Given the description of an element on the screen output the (x, y) to click on. 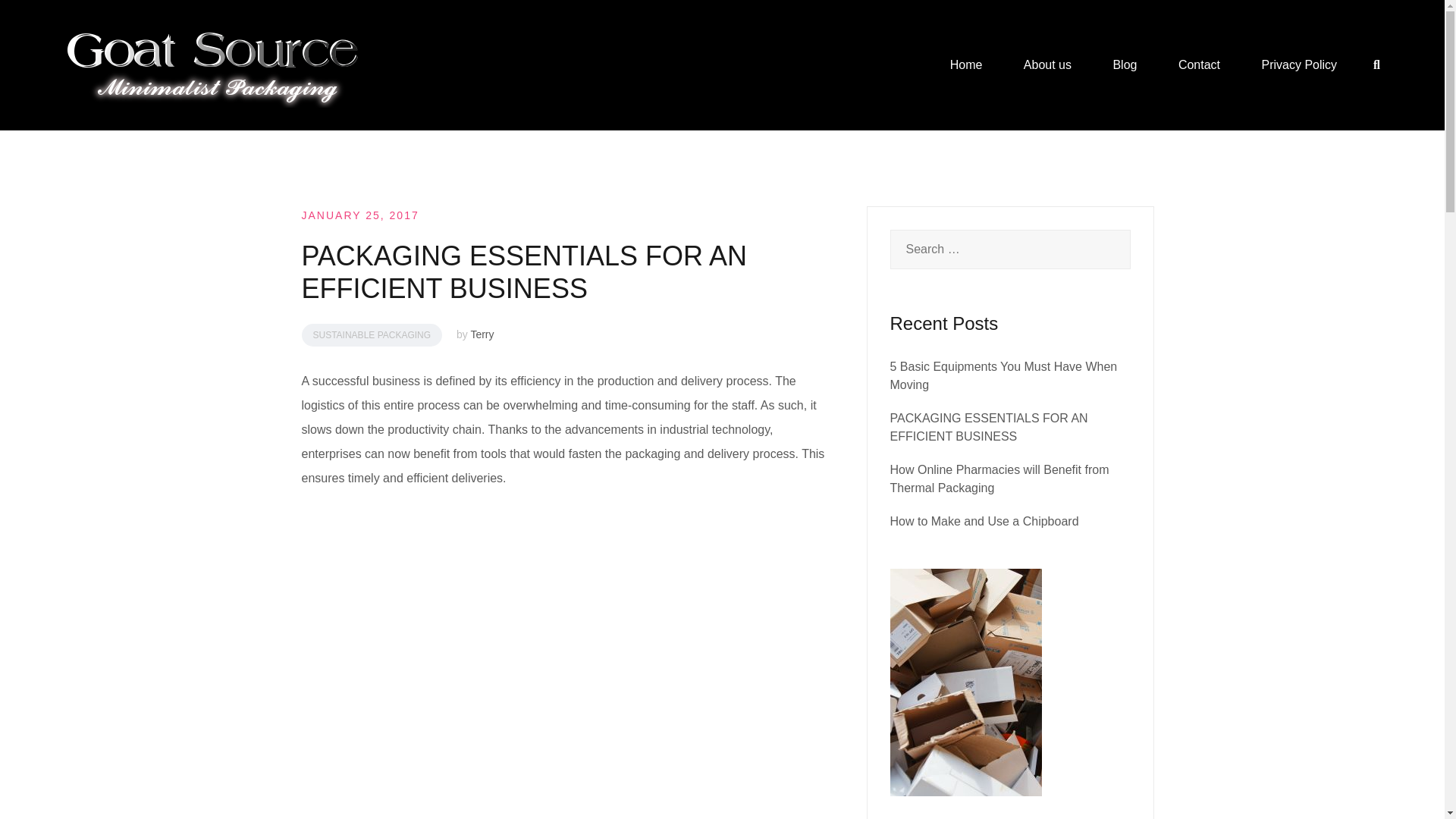
JANUARY 25, 2017 (360, 215)
Blog (1124, 65)
Contact (1198, 65)
Home (966, 65)
Privacy Policy (1300, 65)
About us (1047, 65)
How to Make and Use a Chipboard (983, 521)
5 Basic Equipments You Must Have When Moving (1003, 375)
How Online Pharmacies will Benefit from Thermal Packaging (999, 478)
